Given the description of an element on the screen output the (x, y) to click on. 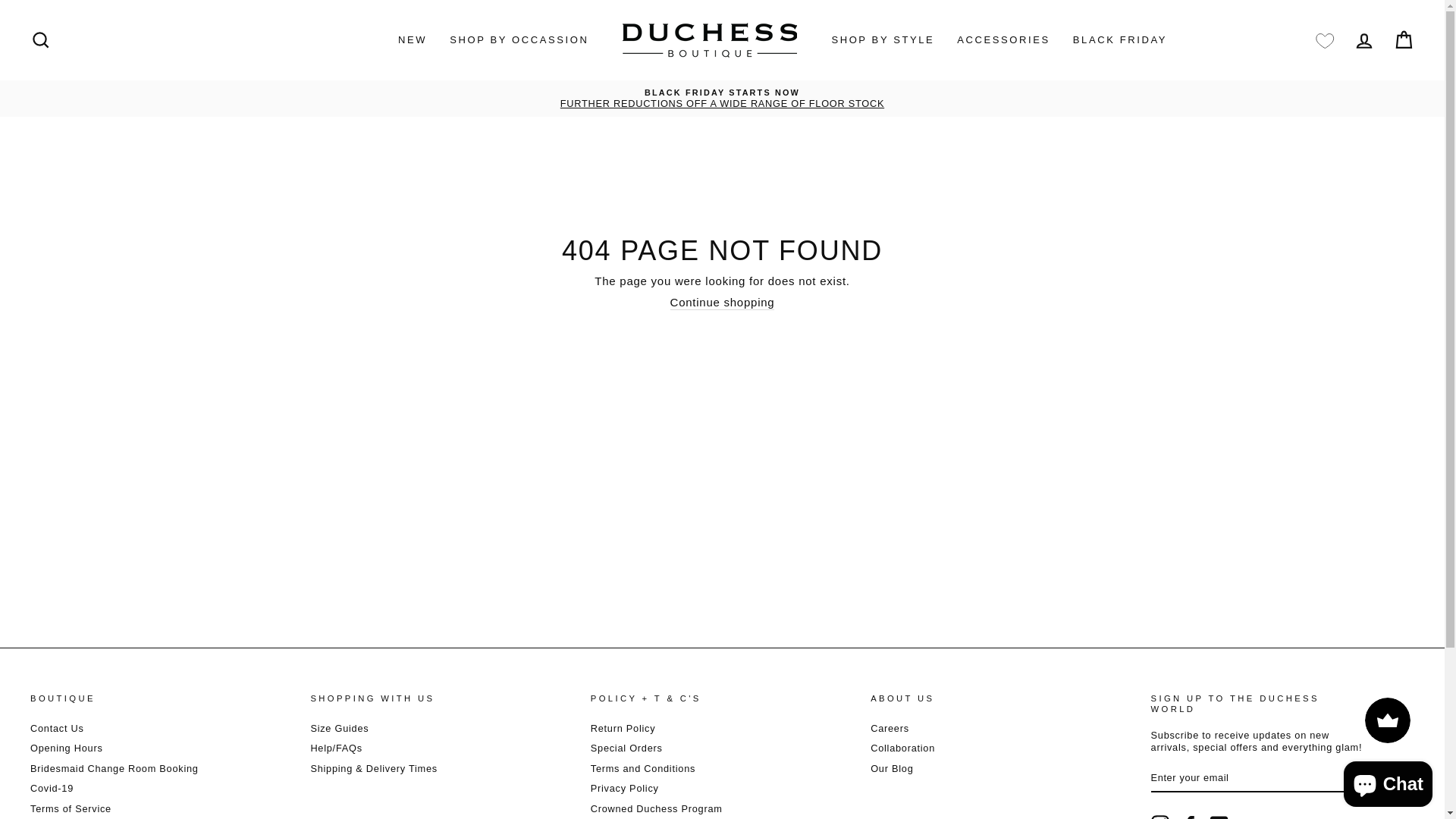
Covid-19 Element type: text (51, 788)
ACCESSORIES Element type: text (1003, 40)
Terms and Conditions Element type: text (642, 768)
Bridesmaid Change Room Booking Element type: text (114, 768)
Continue shopping Element type: text (722, 302)
Terms of Service Element type: text (70, 808)
CART Element type: text (1403, 40)
SEARCH Element type: text (40, 40)
Size Guides Element type: text (339, 728)
Smile.io Rewards Program Launcher Element type: hover (1387, 720)
Help/FAQs Element type: text (335, 747)
NEW Element type: text (412, 40)
Contact Us Element type: text (57, 728)
Skip to content Element type: text (0, 0)
Our Blog Element type: text (891, 768)
Crowned Duchess Program Element type: text (656, 808)
Return Policy Element type: text (622, 728)
Shipping & Delivery Times Element type: text (373, 768)
BLACK FRIDAY Element type: text (1119, 40)
Careers Element type: text (889, 728)
Shopify online store chat Element type: hover (1388, 780)
Collaboration Element type: text (902, 747)
Special Orders Element type: text (626, 747)
SHOP BY OCCASSION Element type: text (518, 40)
LOG IN Element type: text (1363, 40)
Privacy Policy Element type: text (624, 788)
Opening Hours Element type: text (66, 747)
SHOP BY STYLE Element type: text (882, 40)
